Given the description of an element on the screen output the (x, y) to click on. 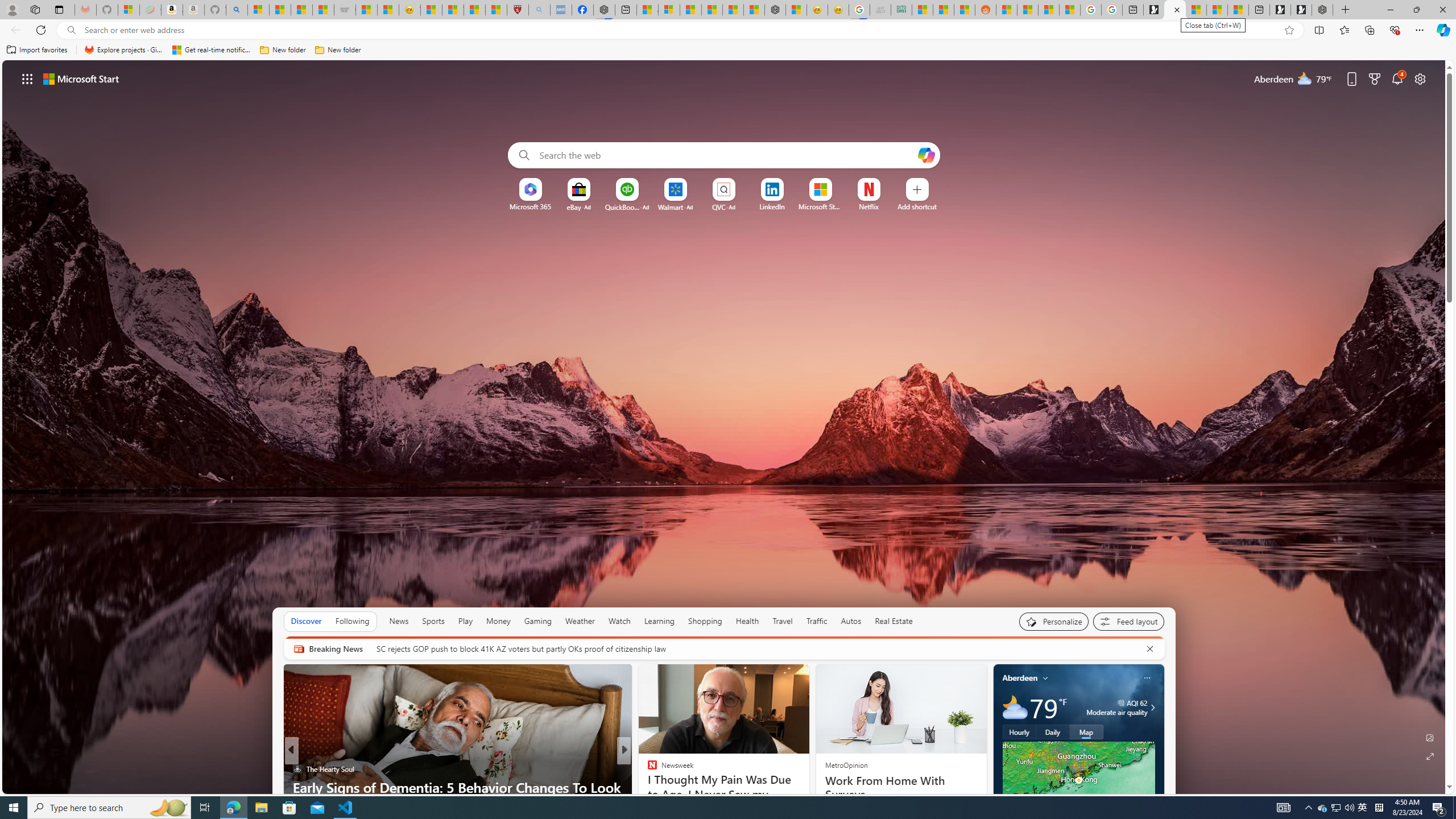
Retailshout (647, 786)
Class: weather-arrow-glyph (1152, 707)
Moderate air quality (1150, 707)
Microsoft start (81, 78)
